Given the description of an element on the screen output the (x, y) to click on. 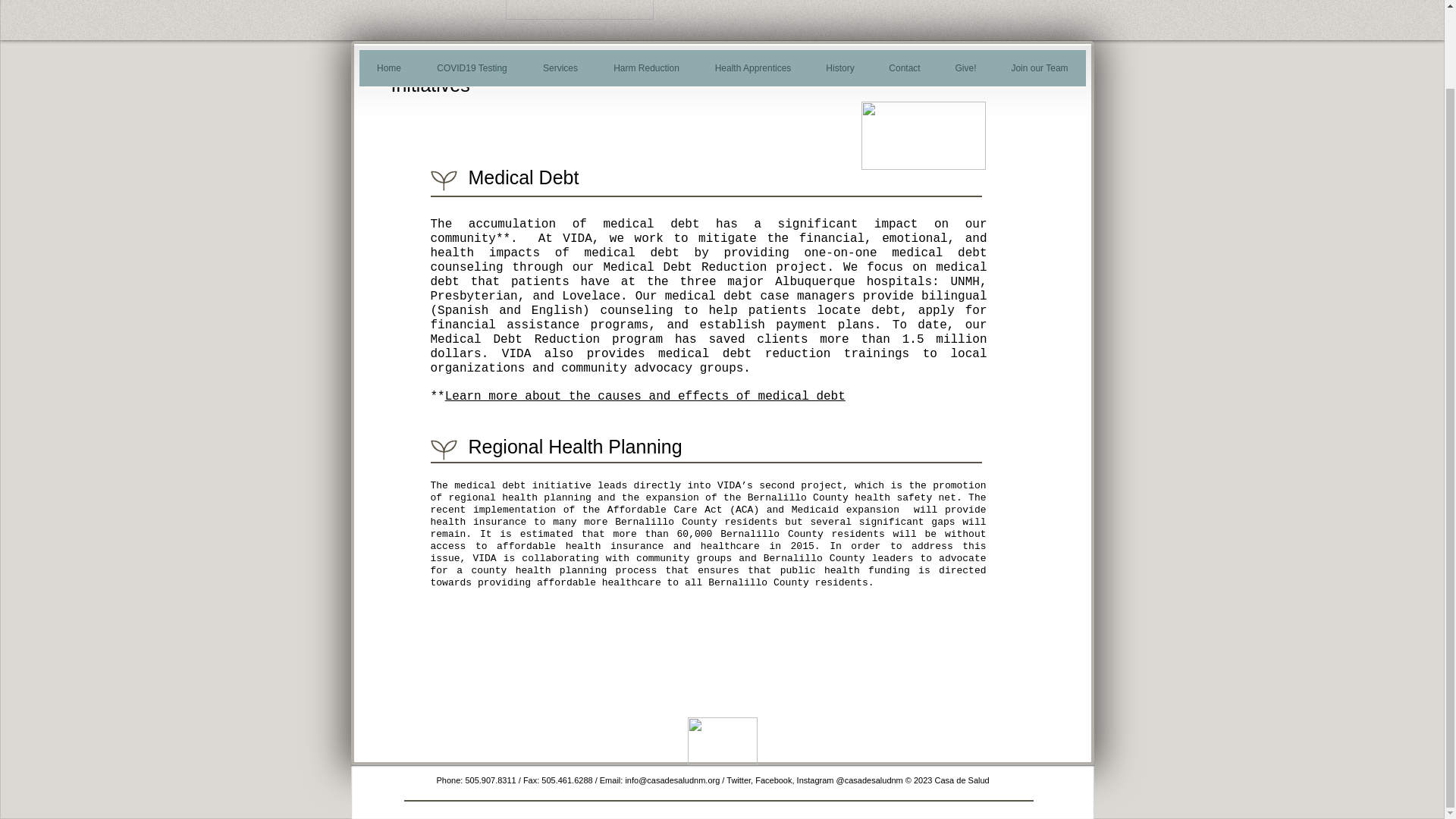
History (839, 72)
Join our Team (1038, 72)
Home (389, 72)
Services (559, 72)
Edited Image 2014-4-8-14:43:56 (722, 740)
Harm Reduction (646, 72)
Give! (964, 72)
Health Apprentices (753, 72)
Contact (904, 72)
COVID19 Testing (471, 72)
Learn more about the causes and effects of medical debt (645, 396)
